Given the description of an element on the screen output the (x, y) to click on. 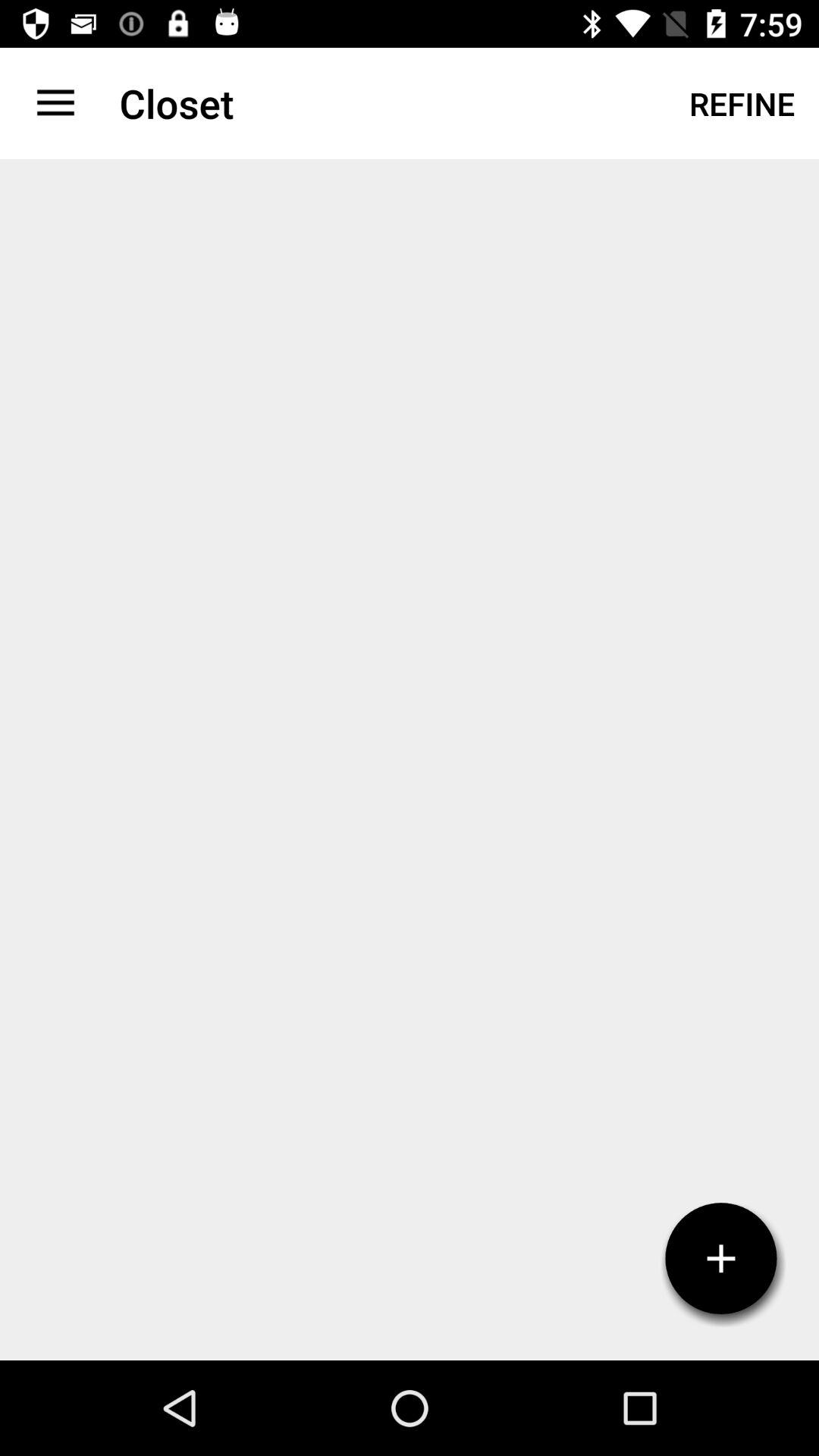
choose refine icon (742, 103)
